Given the description of an element on the screen output the (x, y) to click on. 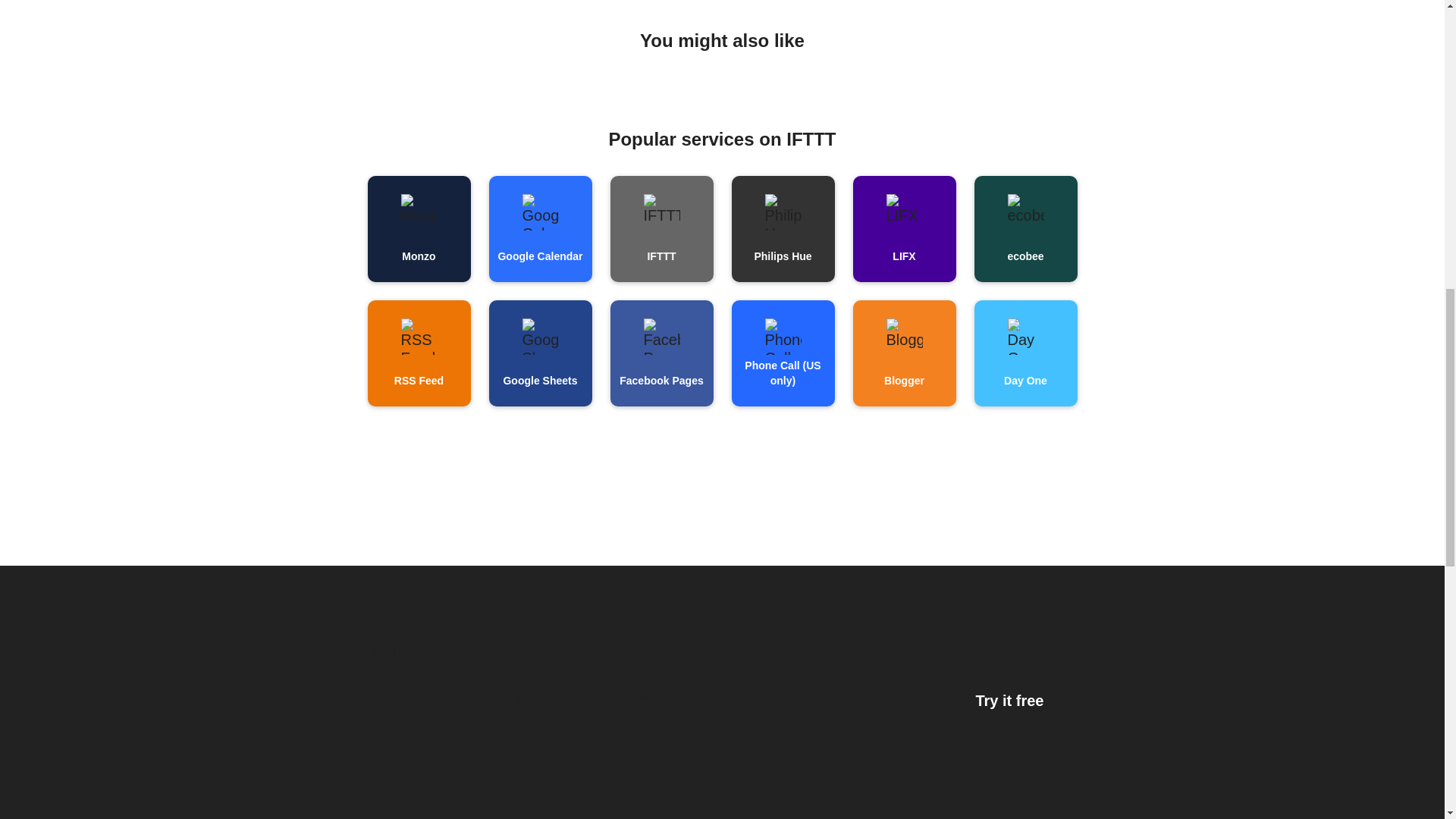
Monzo (418, 228)
RSS Feed (418, 353)
Google Calendar (539, 228)
IFTTT (661, 228)
Google Sheets (539, 353)
Facebook Pages (661, 353)
ecobee (1025, 228)
Day One (1025, 353)
LIFX (903, 228)
Philips Hue (782, 228)
